Given the description of an element on the screen output the (x, y) to click on. 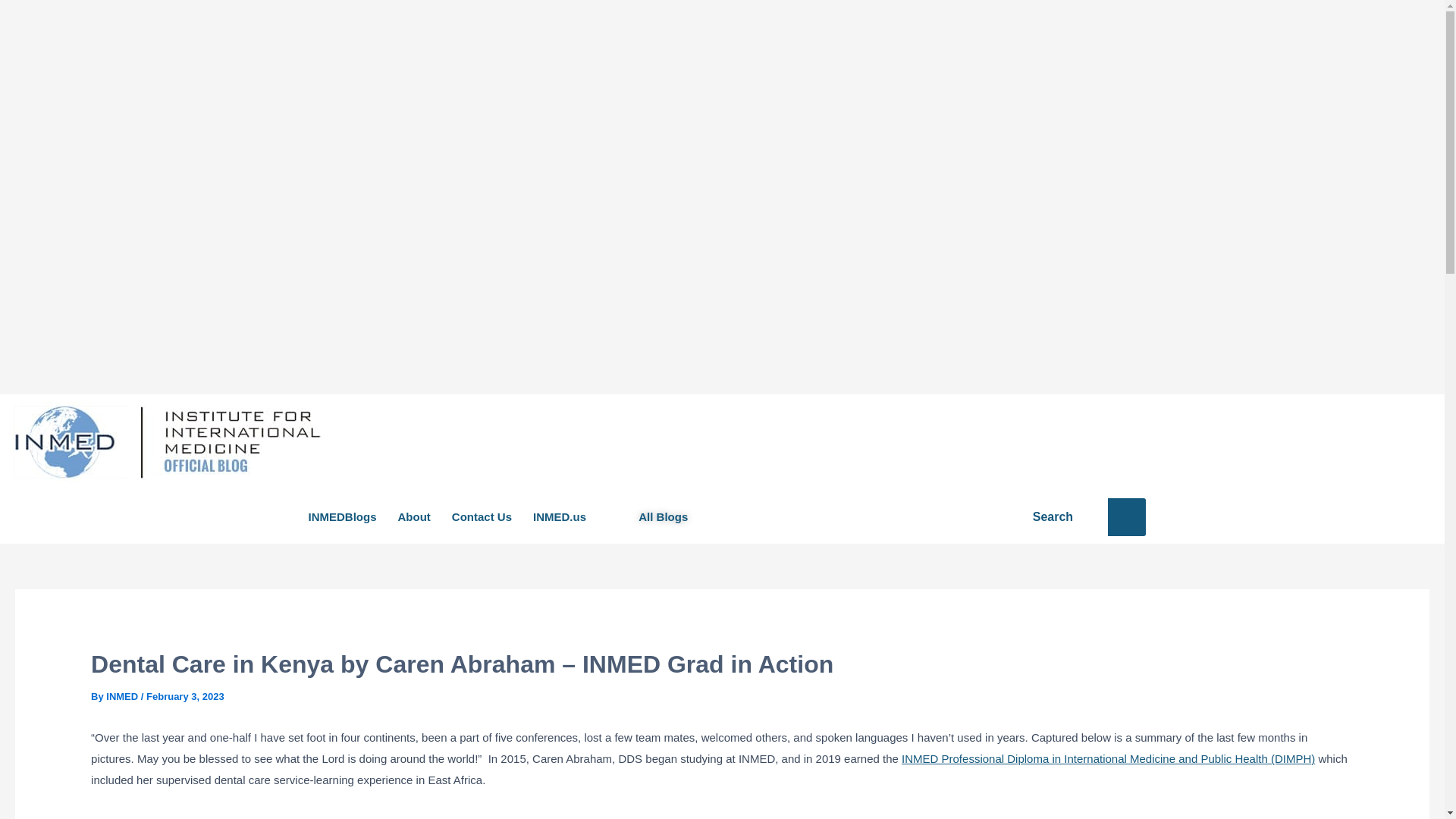
Search (1066, 516)
View all posts by INMED (123, 696)
